Given the description of an element on the screen output the (x, y) to click on. 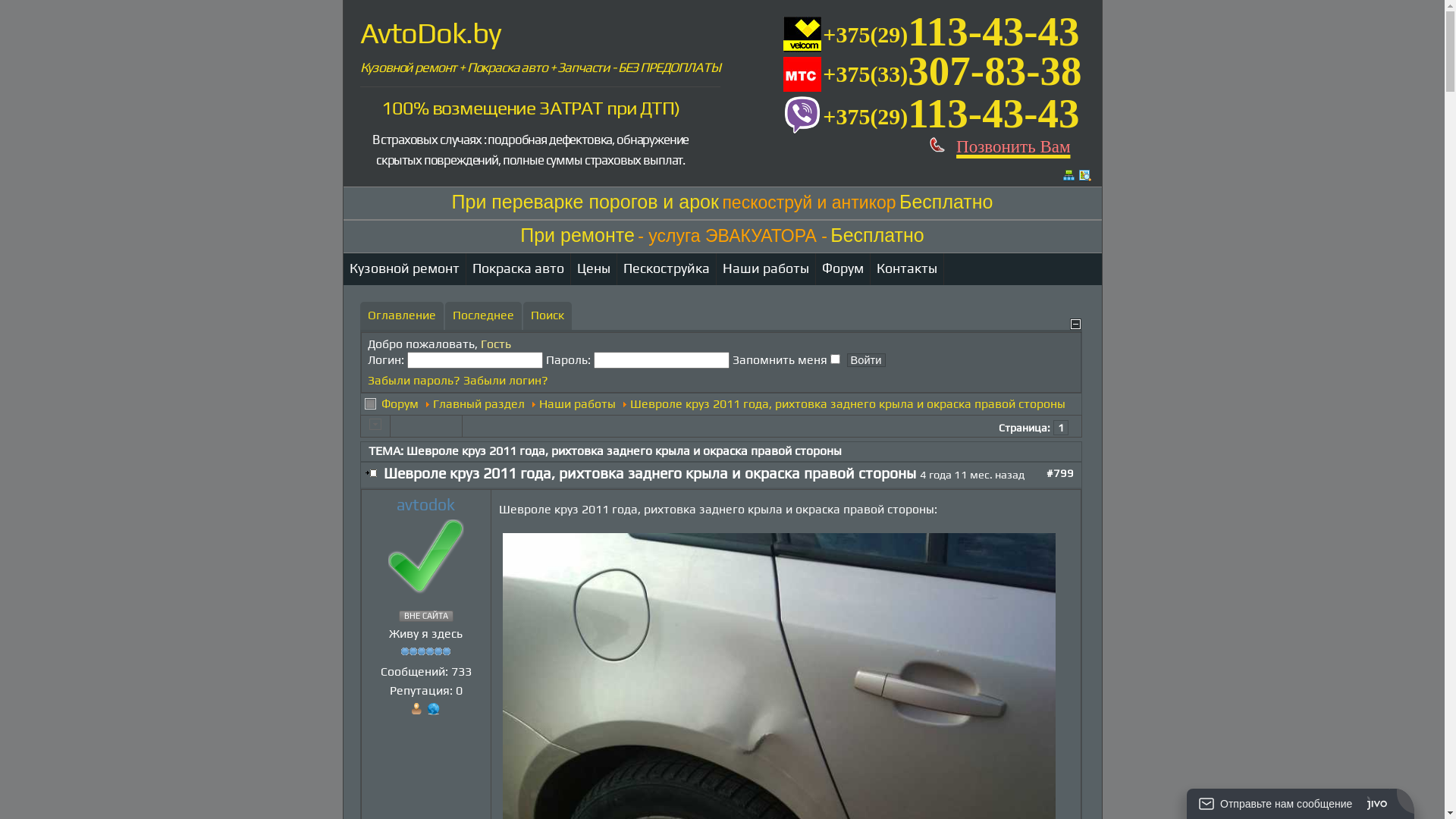
avtodok Element type: text (425, 504)
AvtoDok.by Element type: text (429, 32)
#799 Element type: text (1059, 472)
